Given the description of an element on the screen output the (x, y) to click on. 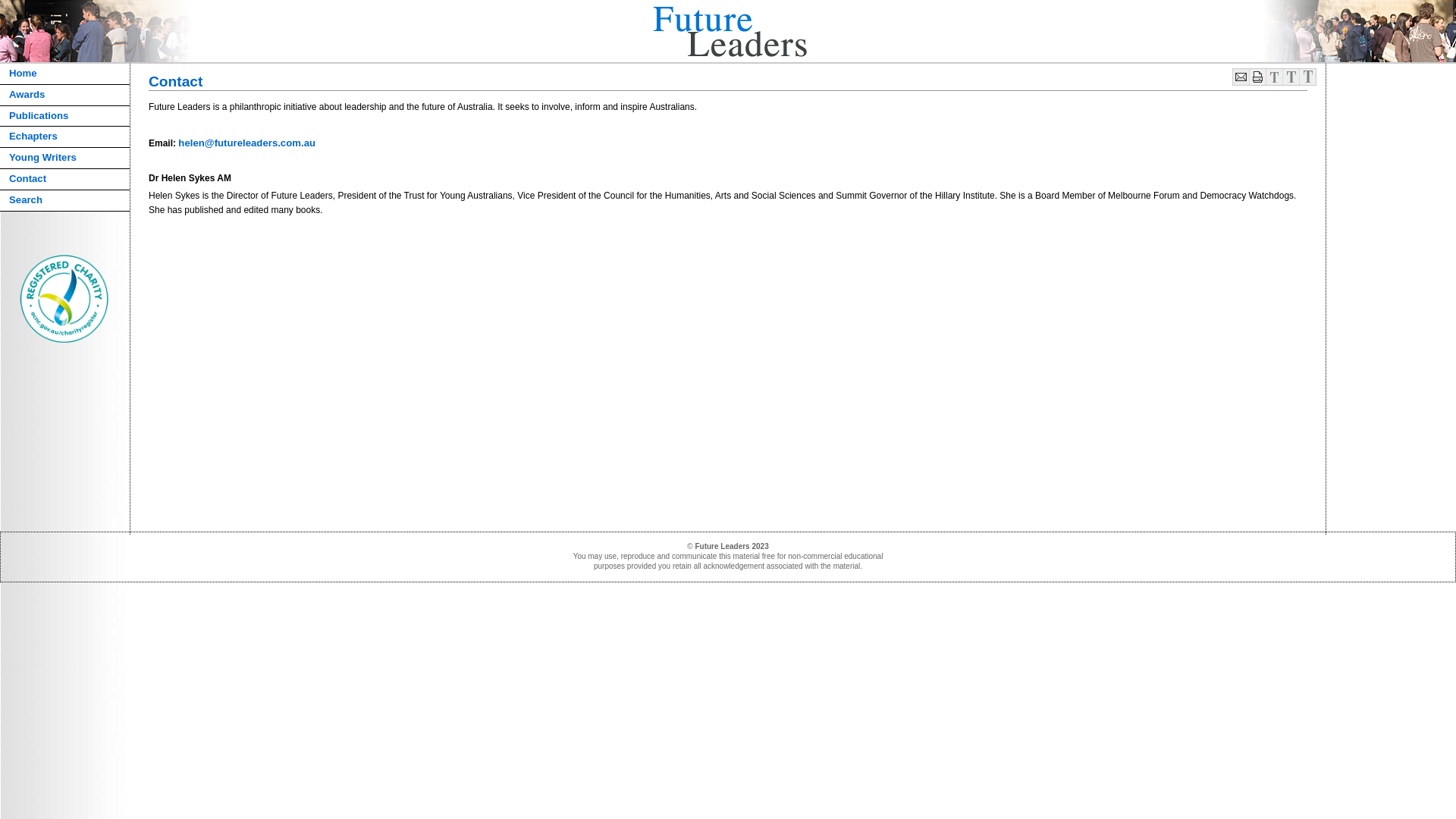
Young Writers Element type: text (64, 158)
Change text to medium Element type: hover (1290, 82)
Contact Element type: text (64, 179)
Change text to small (default) Element type: hover (1273, 82)
Awards Element type: text (64, 95)
helen@futureleaders.com.au Element type: text (246, 142)
Home Element type: text (64, 73)
Publications Element type: text (64, 116)
Printer friendly format Element type: hover (1256, 82)
Change text to large Element type: hover (1307, 82)
Echapters Element type: text (64, 136)
Search Element type: text (64, 200)
